Given the description of an element on the screen output the (x, y) to click on. 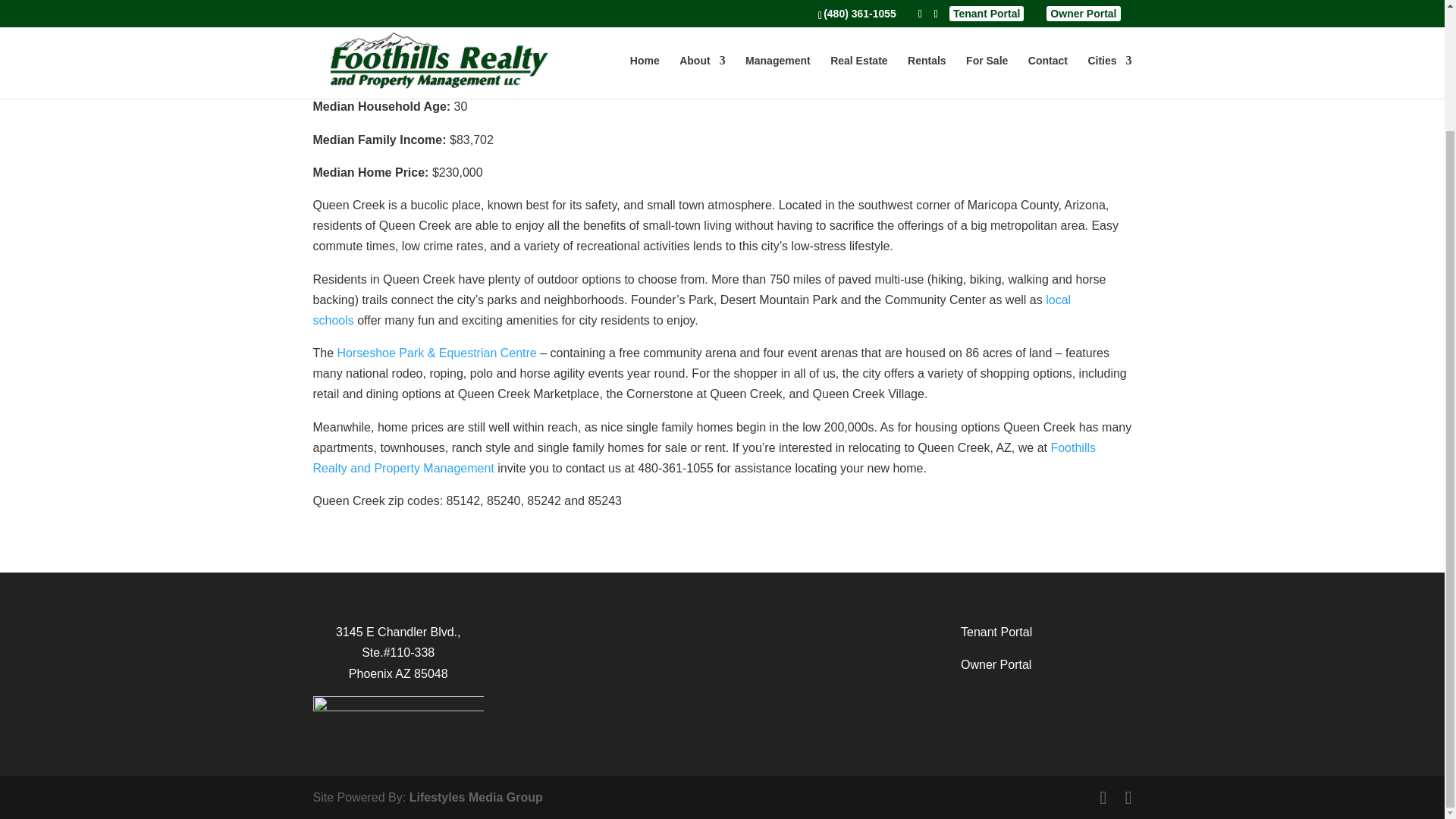
Lifestyles Media Group (476, 797)
Foothills Realty and Property Management (704, 458)
Tenant Portal (996, 631)
local schools (691, 309)
Owner Portal (995, 664)
